Given the description of an element on the screen output the (x, y) to click on. 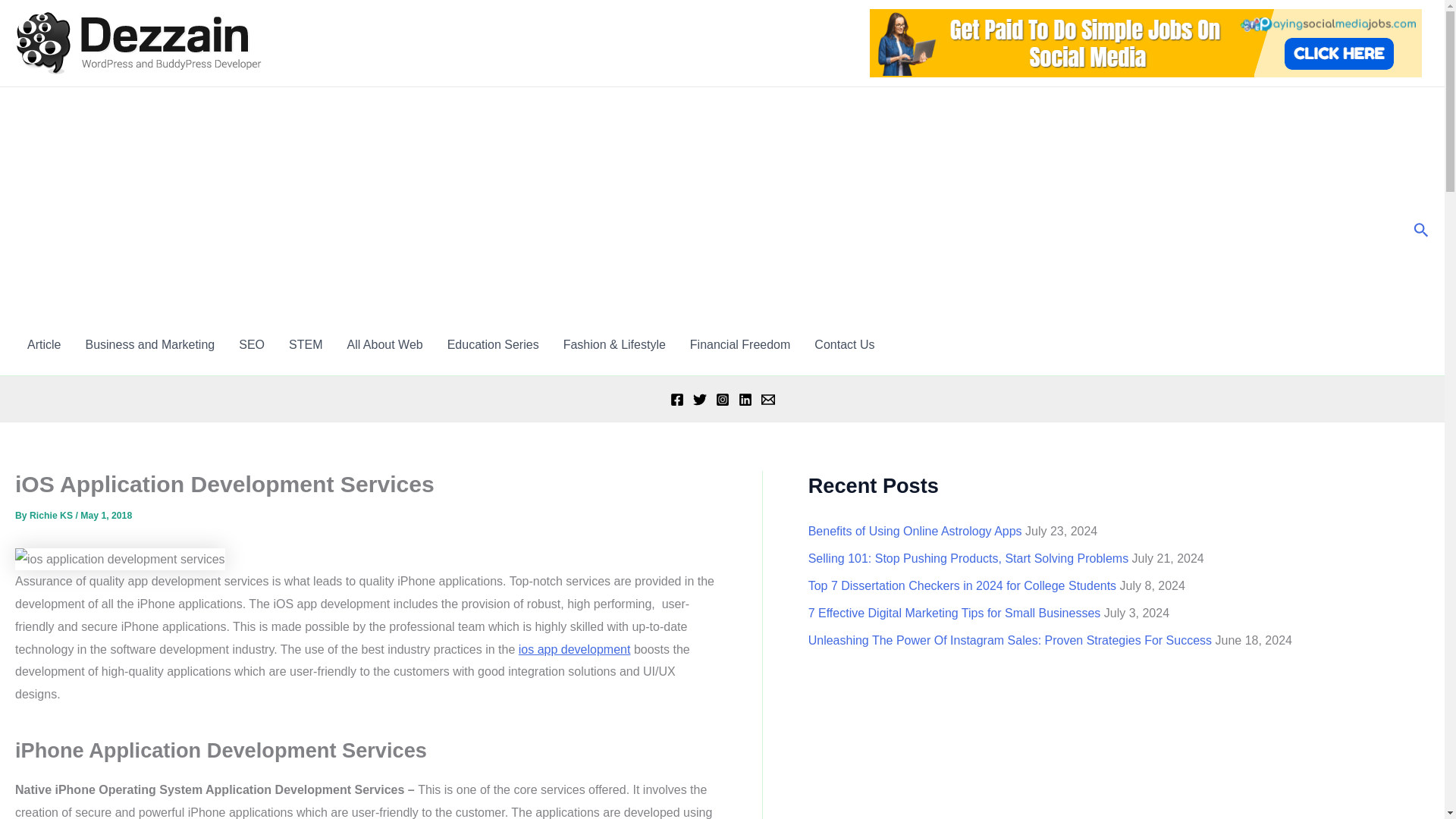
Business and Marketing (149, 344)
Selling 101: Stop Pushing Products, Start Solving Problems (968, 558)
Richie KS (52, 515)
View all posts by Richie KS (52, 515)
STEM (305, 344)
All About Web (383, 344)
Education Series (493, 344)
Benefits of Using Online Astrology Apps (915, 530)
ios app development (574, 649)
Search (1421, 231)
Financial Freedom (740, 344)
Contact Us (844, 344)
Article (43, 344)
any inquiries? (844, 344)
